Given the description of an element on the screen output the (x, y) to click on. 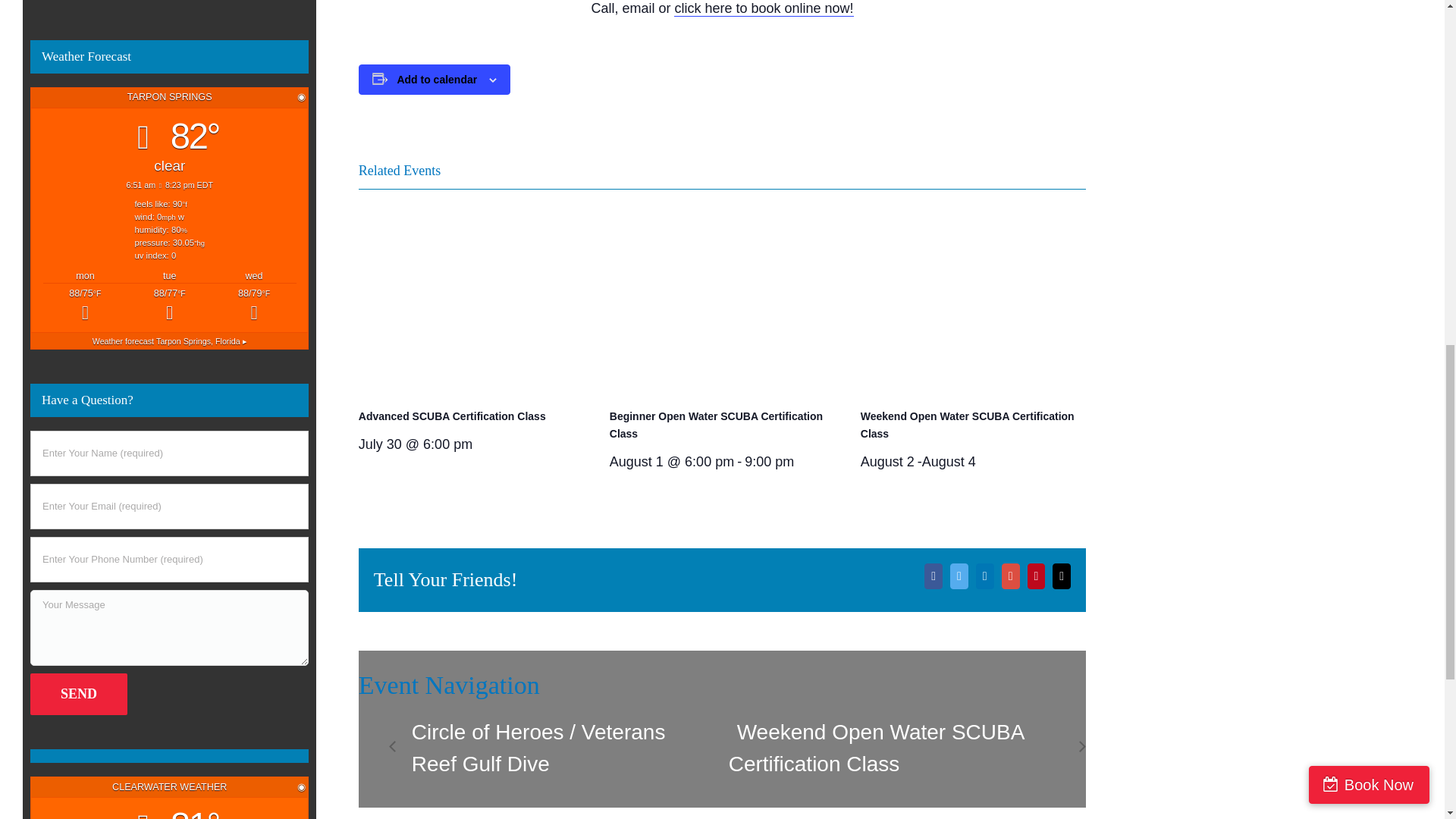
Email (1061, 575)
Location (301, 96)
Advanced SCUBA Certification Class (452, 416)
Linkedin (984, 575)
Facebook (933, 575)
Scattered Thunderstorms (253, 305)
Twitter (959, 575)
Add to calendar (436, 78)
Pinterest (1035, 575)
Send (79, 693)
Scattered Thunderstorms (169, 305)
Scattered Thunderstorms (85, 305)
click here to book online now! (763, 7)
